Given the description of an element on the screen output the (x, y) to click on. 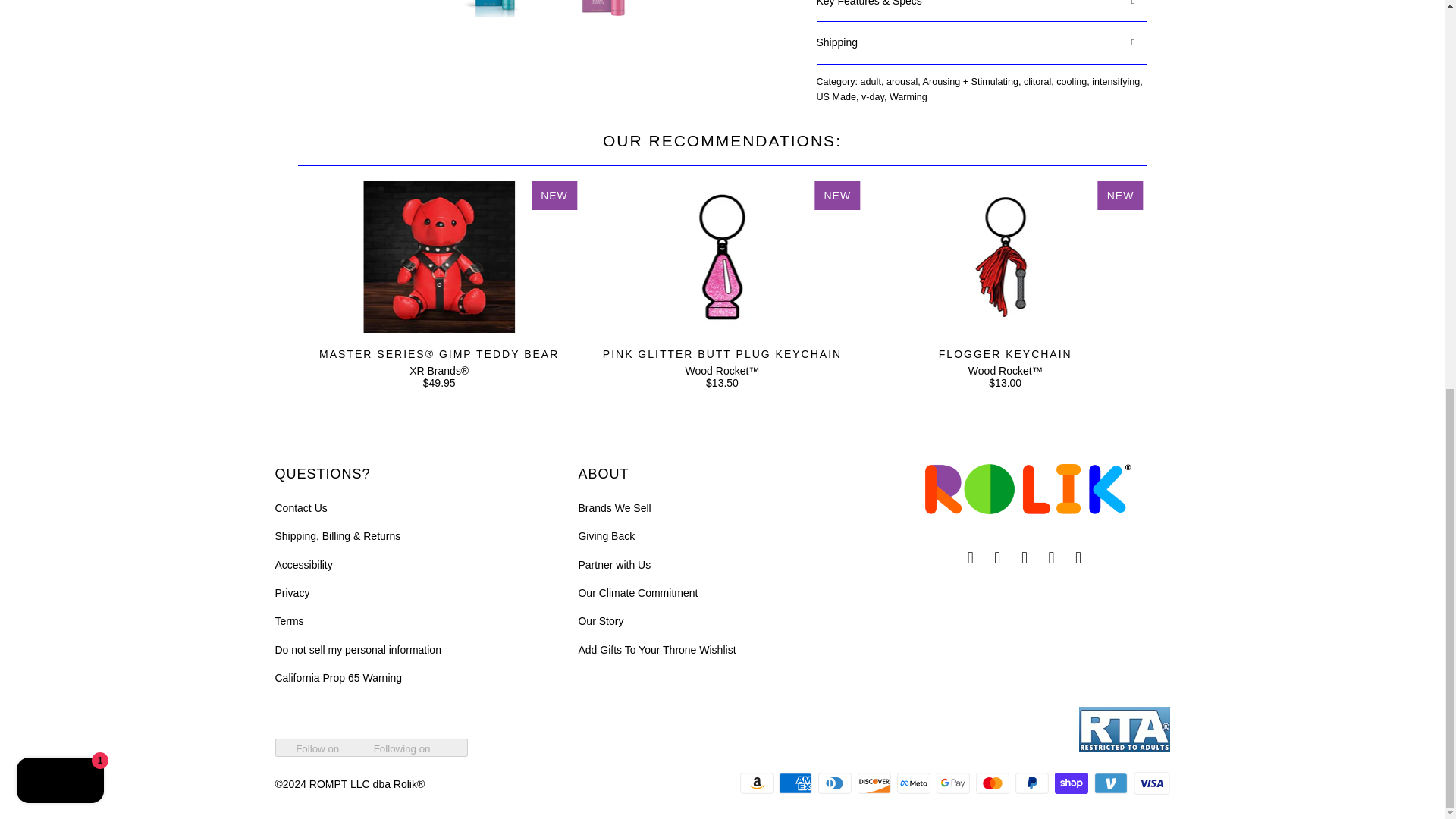
Diners Club (836, 783)
Products tagged intensifying (1116, 81)
Amazon (757, 783)
Mastercard (993, 783)
PayPal (1032, 783)
Products tagged adult (870, 81)
Visa (1150, 783)
American Express (796, 783)
Shop Pay (1072, 783)
Discover (875, 783)
Products tagged clitoral (1037, 81)
Products tagged arousal (901, 81)
Venmo (1112, 783)
Meta Pay (914, 783)
Products tagged cooling (1071, 81)
